Given the description of an element on the screen output the (x, y) to click on. 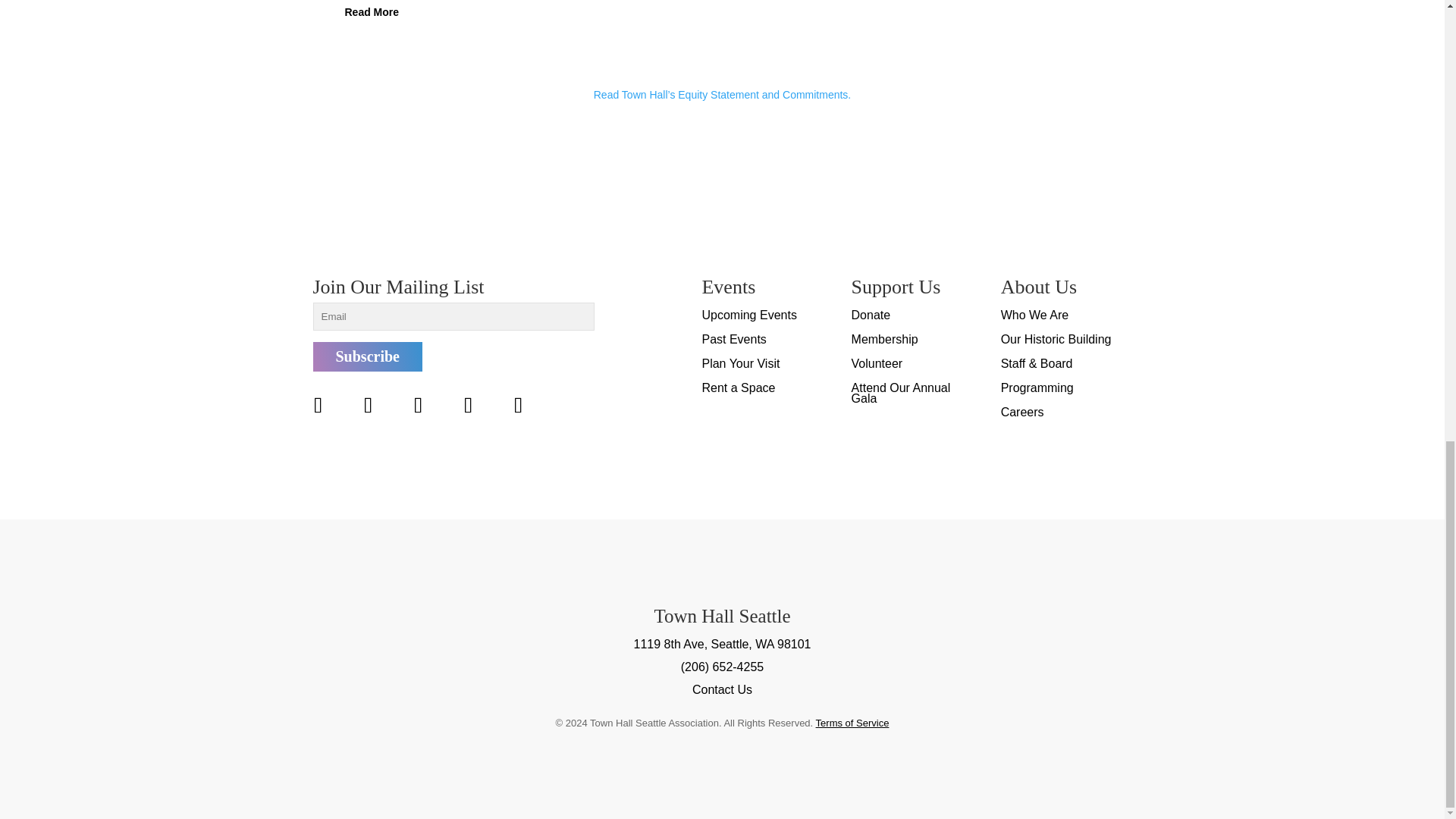
Subscribe (367, 356)
